Given the description of an element on the screen output the (x, y) to click on. 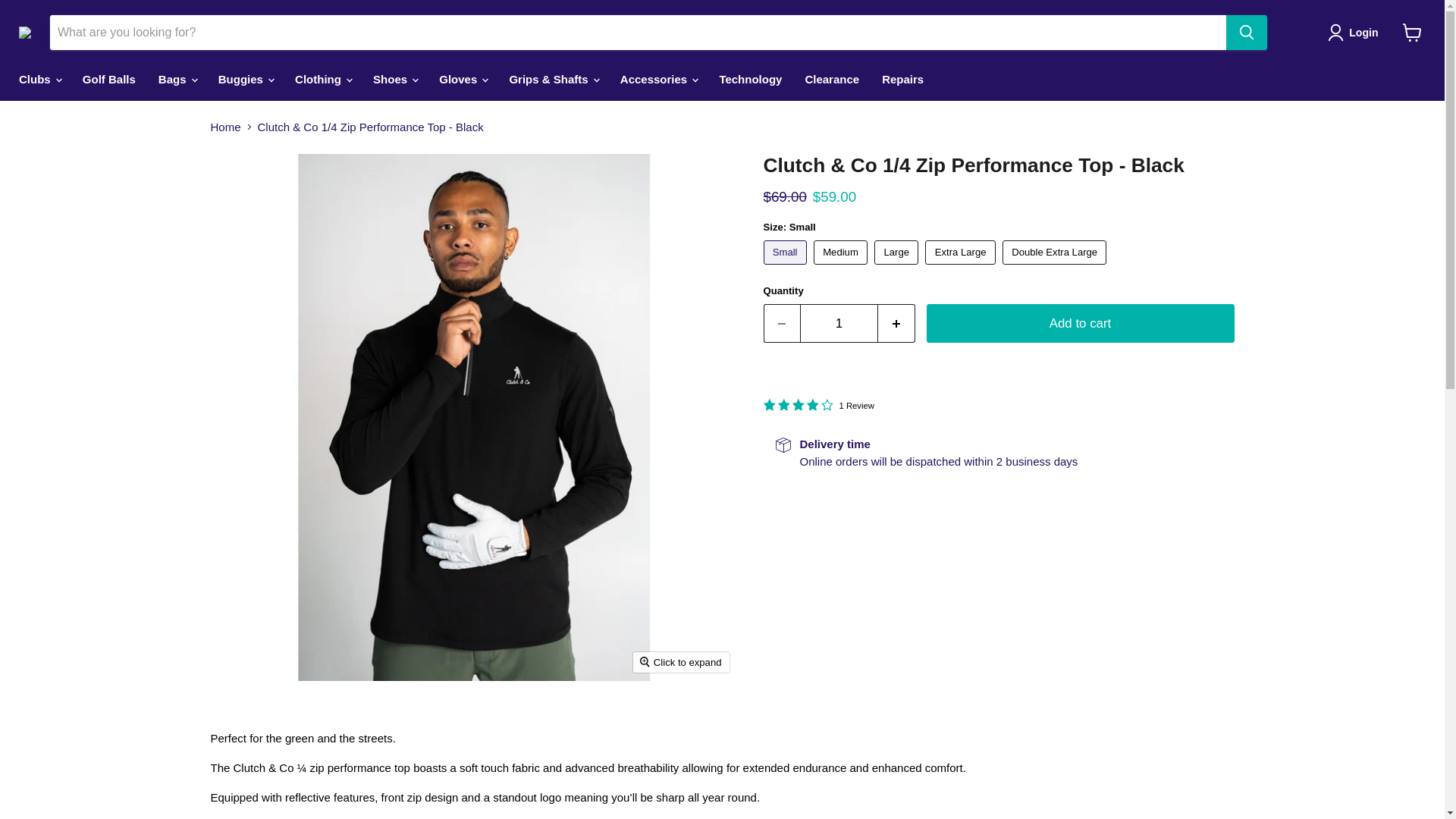
Login (1355, 32)
View cart (1411, 32)
Golf Balls (109, 79)
1 (838, 323)
